Given the description of an element on the screen output the (x, y) to click on. 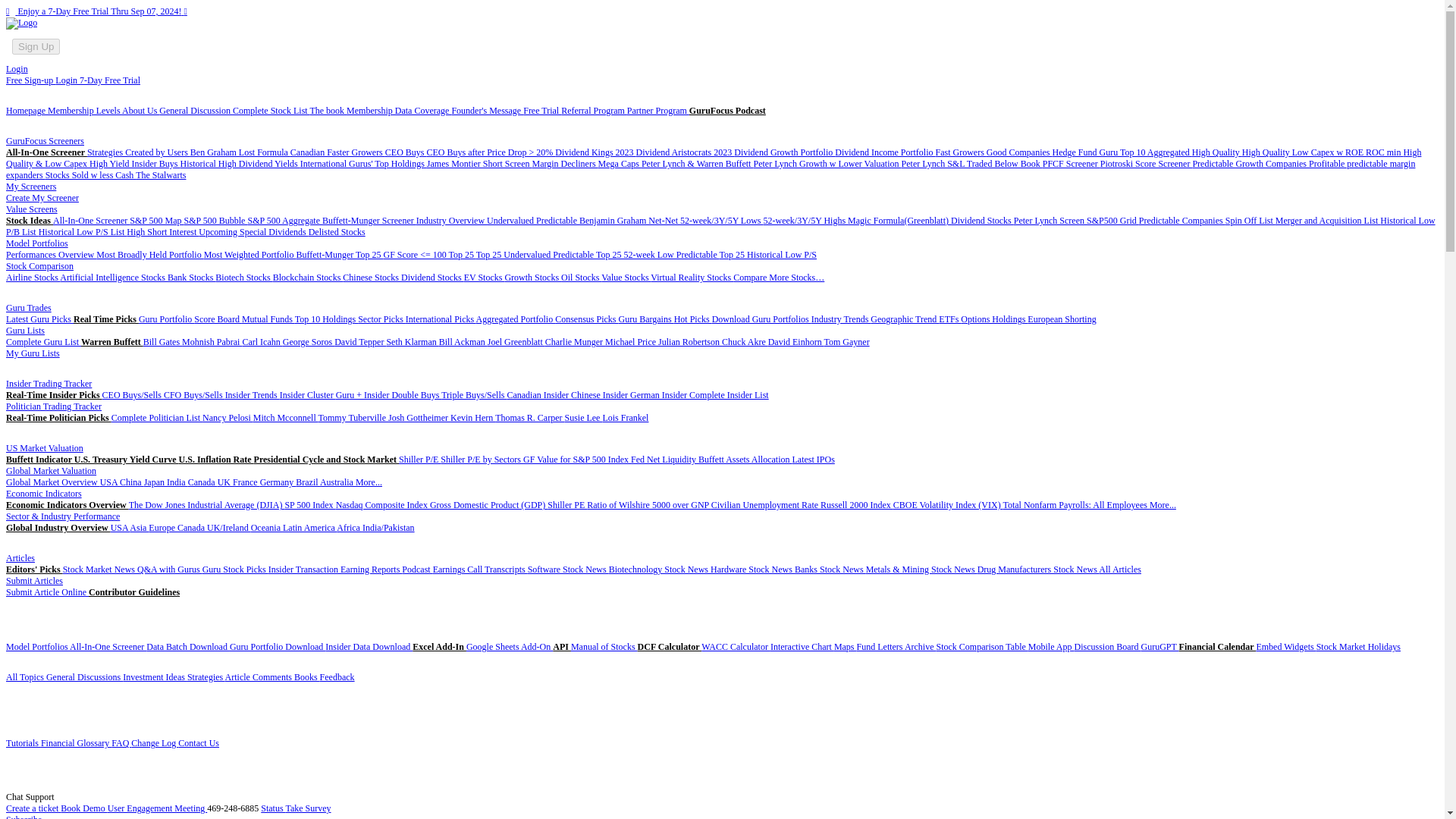
About Us (140, 110)
High Yield Insider Buys (134, 163)
Ben Graham Lost Formula (239, 152)
Strategies Created by Users (138, 152)
Login (16, 68)
Dividend Growth Portfolio (783, 152)
Homepage (26, 110)
Partner Program (657, 110)
Hedge Fund Guru Top 10 Aggregated (1122, 152)
All-In-One Screener (46, 152)
